Given the description of an element on the screen output the (x, y) to click on. 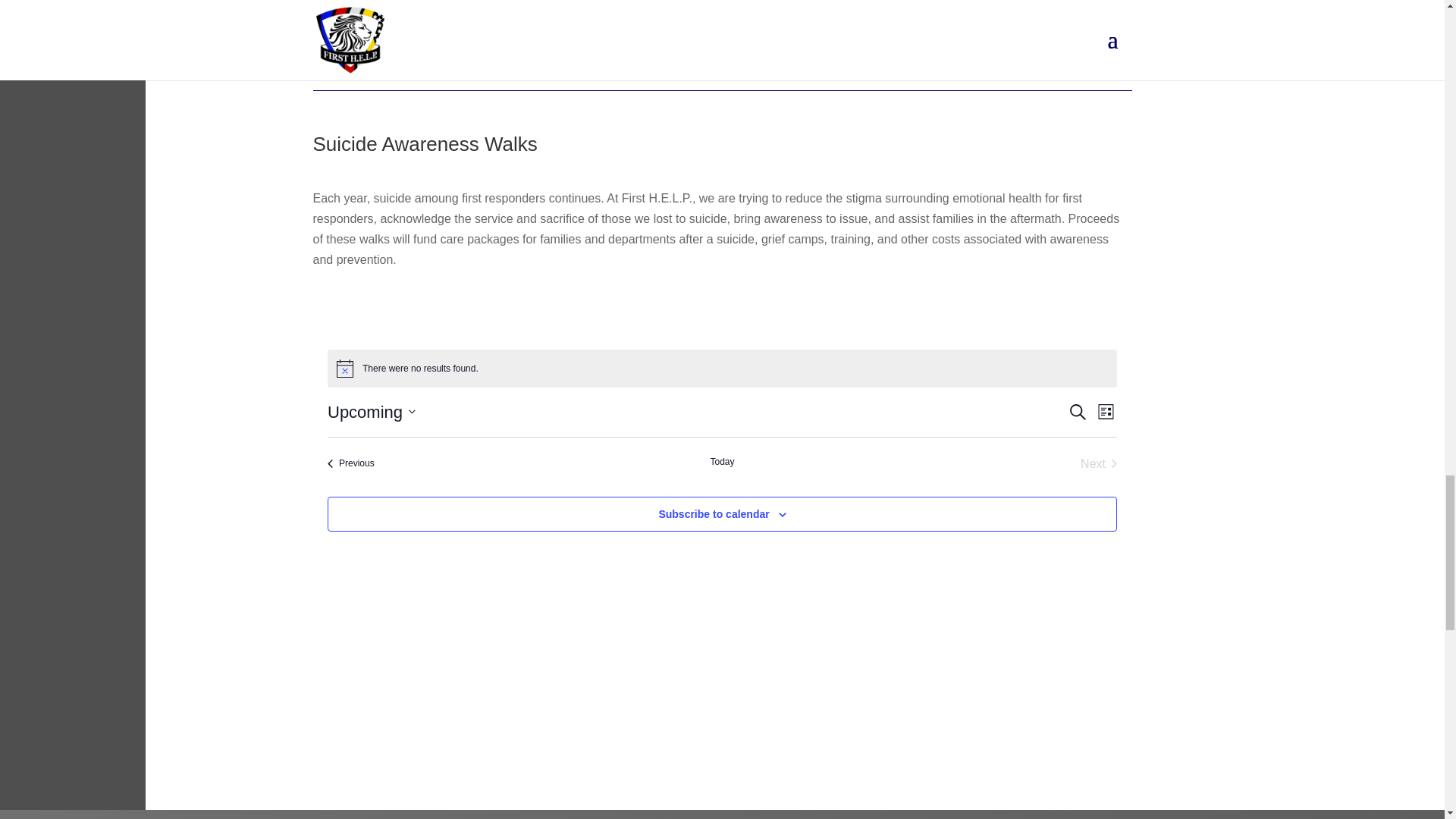
List (1105, 412)
Previous Events (350, 463)
Click to select today's date (721, 463)
Click to toggle datepicker (370, 412)
Next Events (1098, 463)
Search (1078, 412)
